Given the description of an element on the screen output the (x, y) to click on. 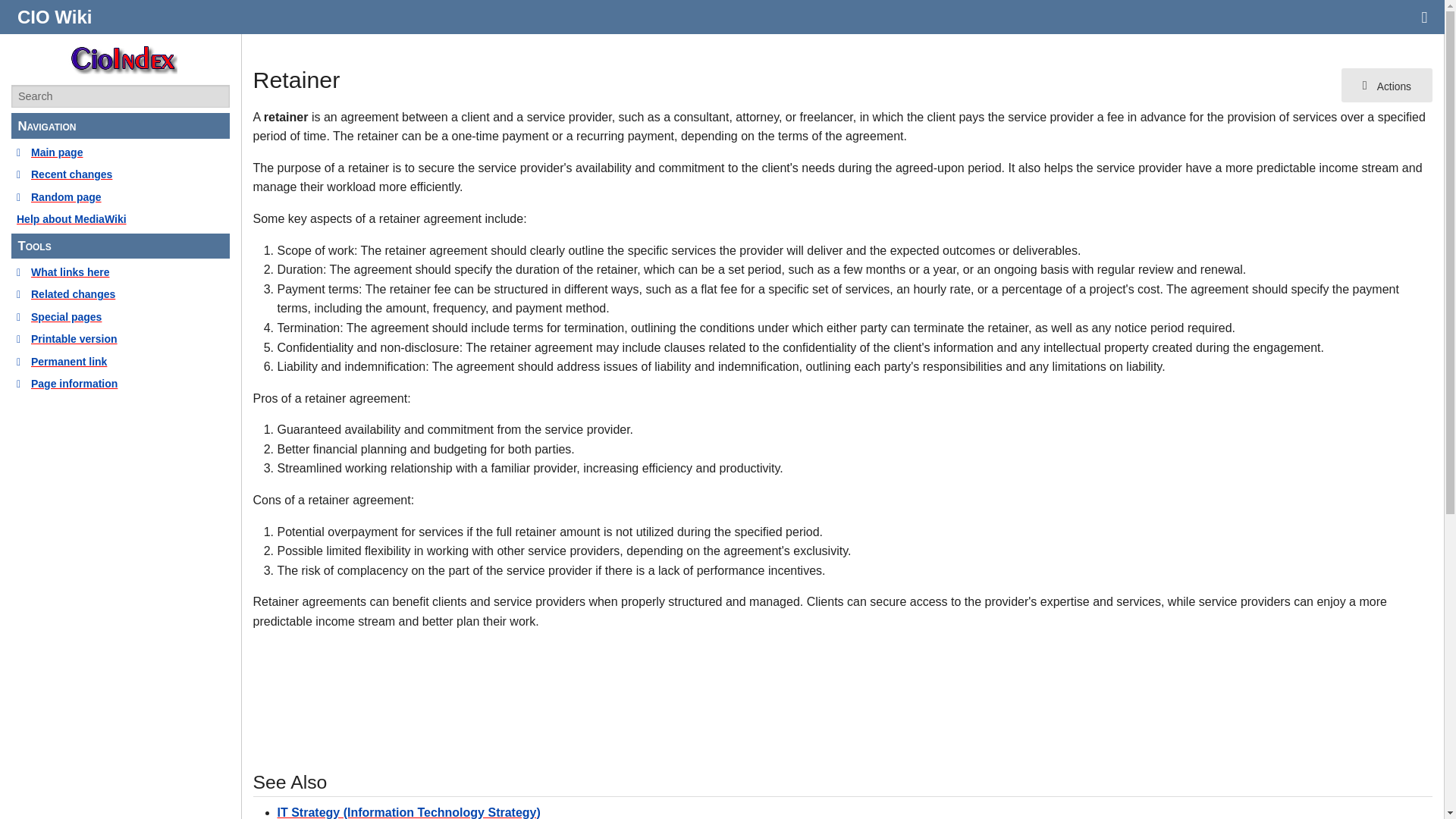
Printable version (120, 338)
Permanent link (120, 361)
What links here (120, 271)
Random page (120, 197)
Main page (120, 152)
Recent changes (120, 174)
CIO Wiki (54, 16)
Page information (120, 383)
Special pages (120, 316)
Related changes (120, 293)
